Given the description of an element on the screen output the (x, y) to click on. 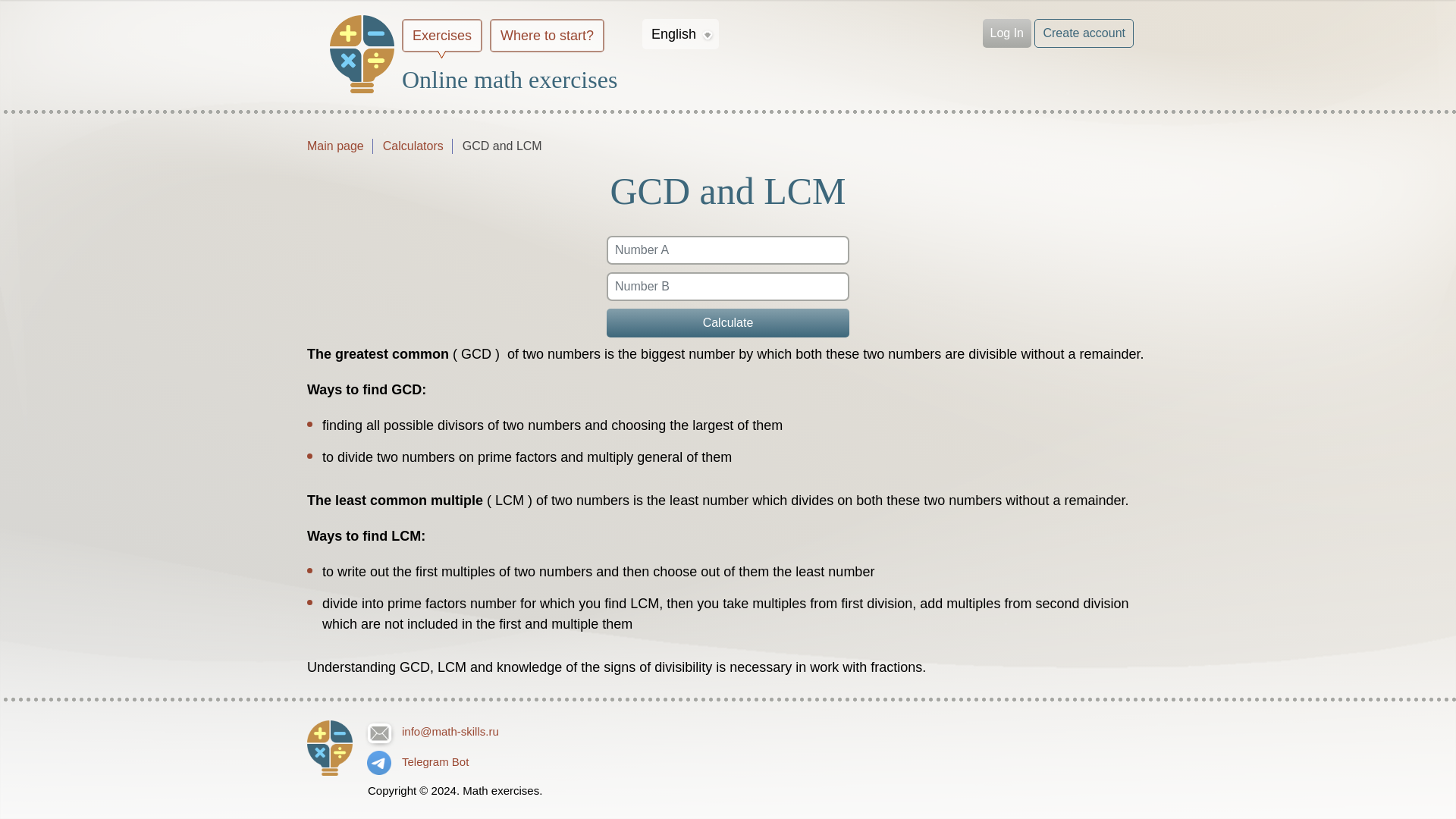
Calculators (413, 146)
Create account (1083, 32)
Main page (335, 146)
Calculate (727, 321)
Where to start? (547, 35)
Log In (1006, 32)
Telegram Bot (454, 761)
